Given the description of an element on the screen output the (x, y) to click on. 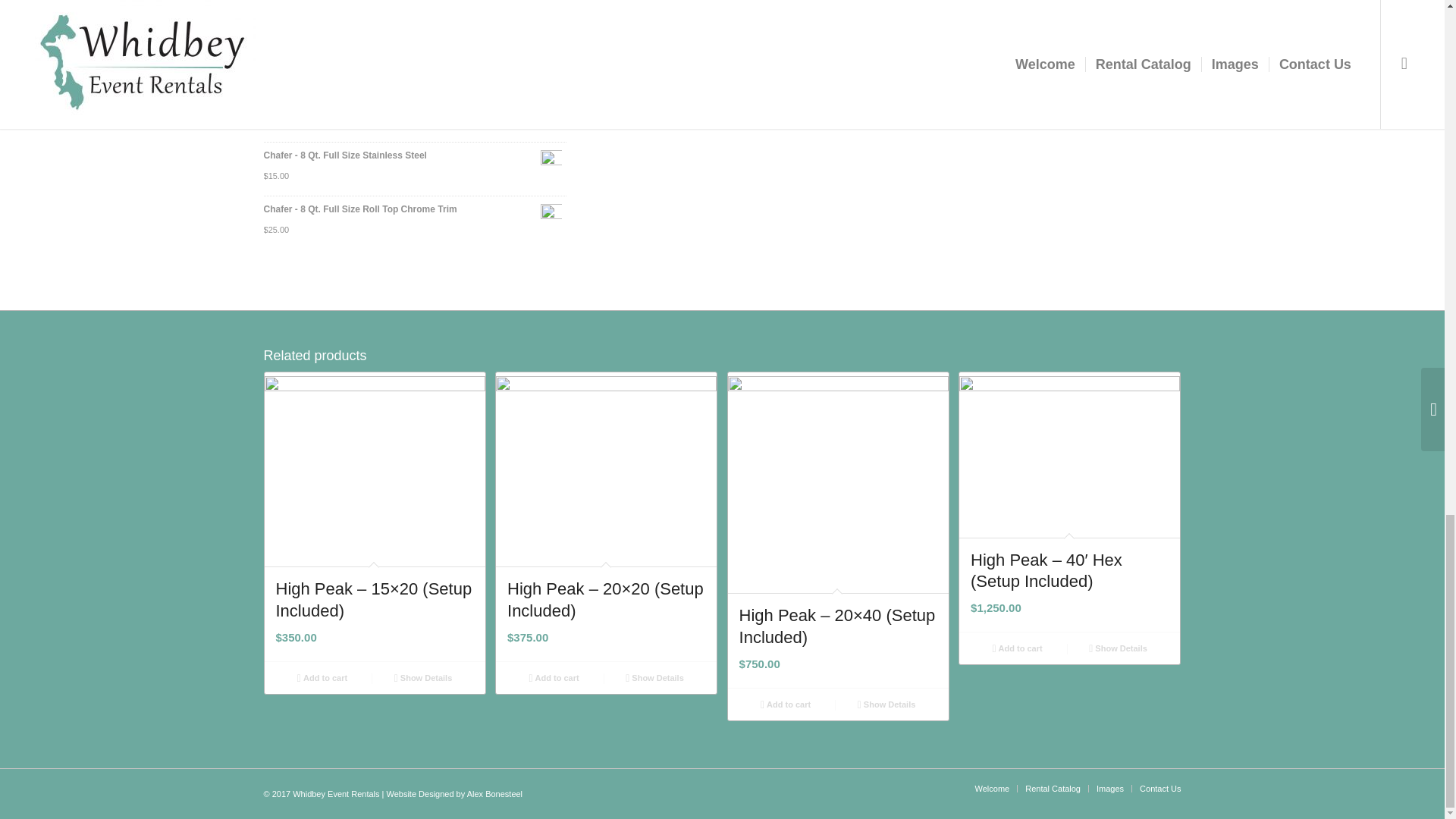
Add to cart (785, 704)
Show Details (422, 677)
Add to cart (321, 677)
Chafer - 8 Qt. Full Size Roll Top Chrome Trim (414, 209)
Chafer - 8 Qt. Full Size Stainless Steel (414, 155)
Add to cart (553, 677)
Mic - Wireless Kit (414, 47)
Beverage Dispenser - Cold - 3 Gallon (414, 100)
Show Details (886, 704)
Show Details (654, 677)
